Given the description of an element on the screen output the (x, y) to click on. 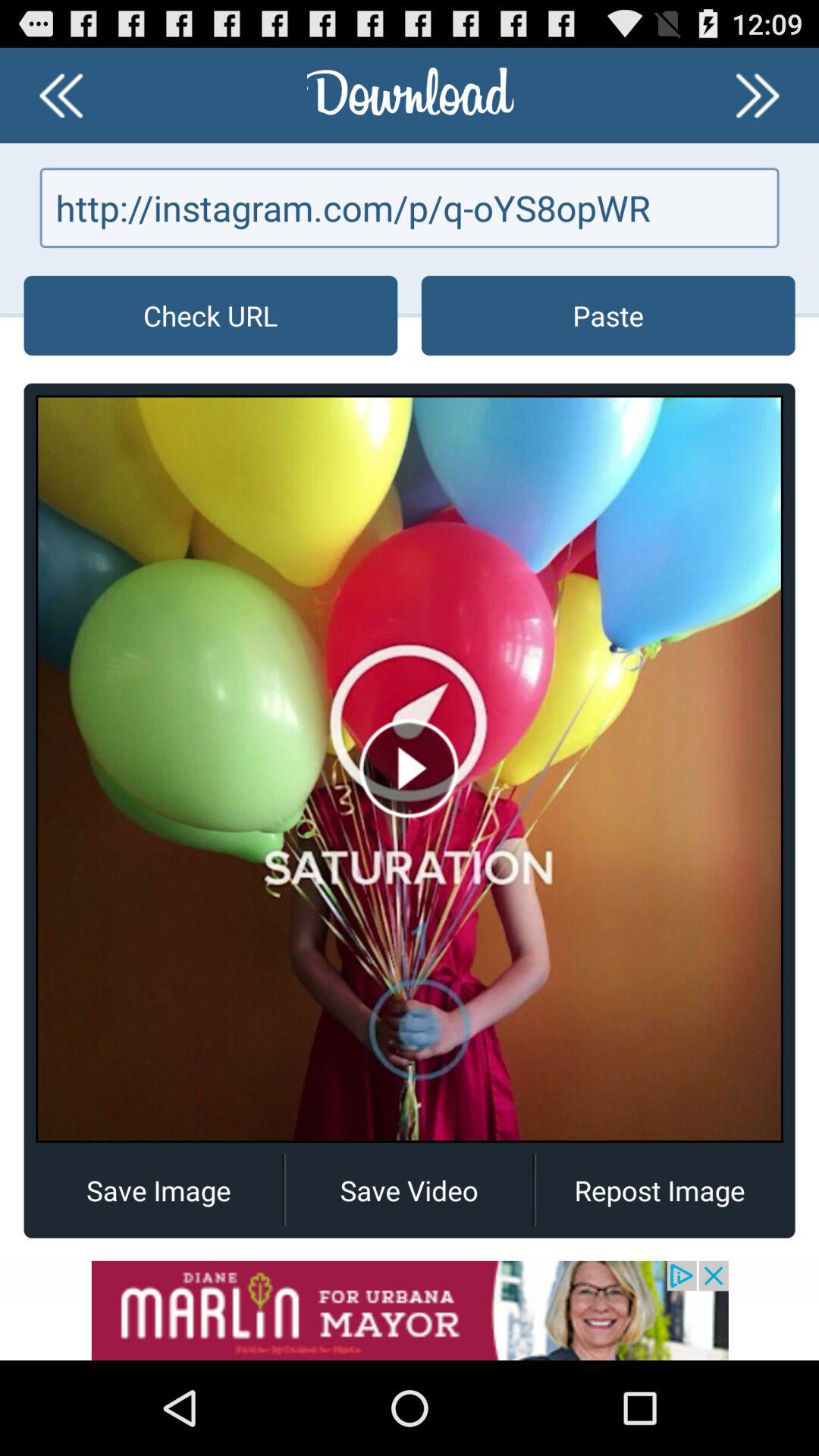
go back (61, 95)
